Given the description of an element on the screen output the (x, y) to click on. 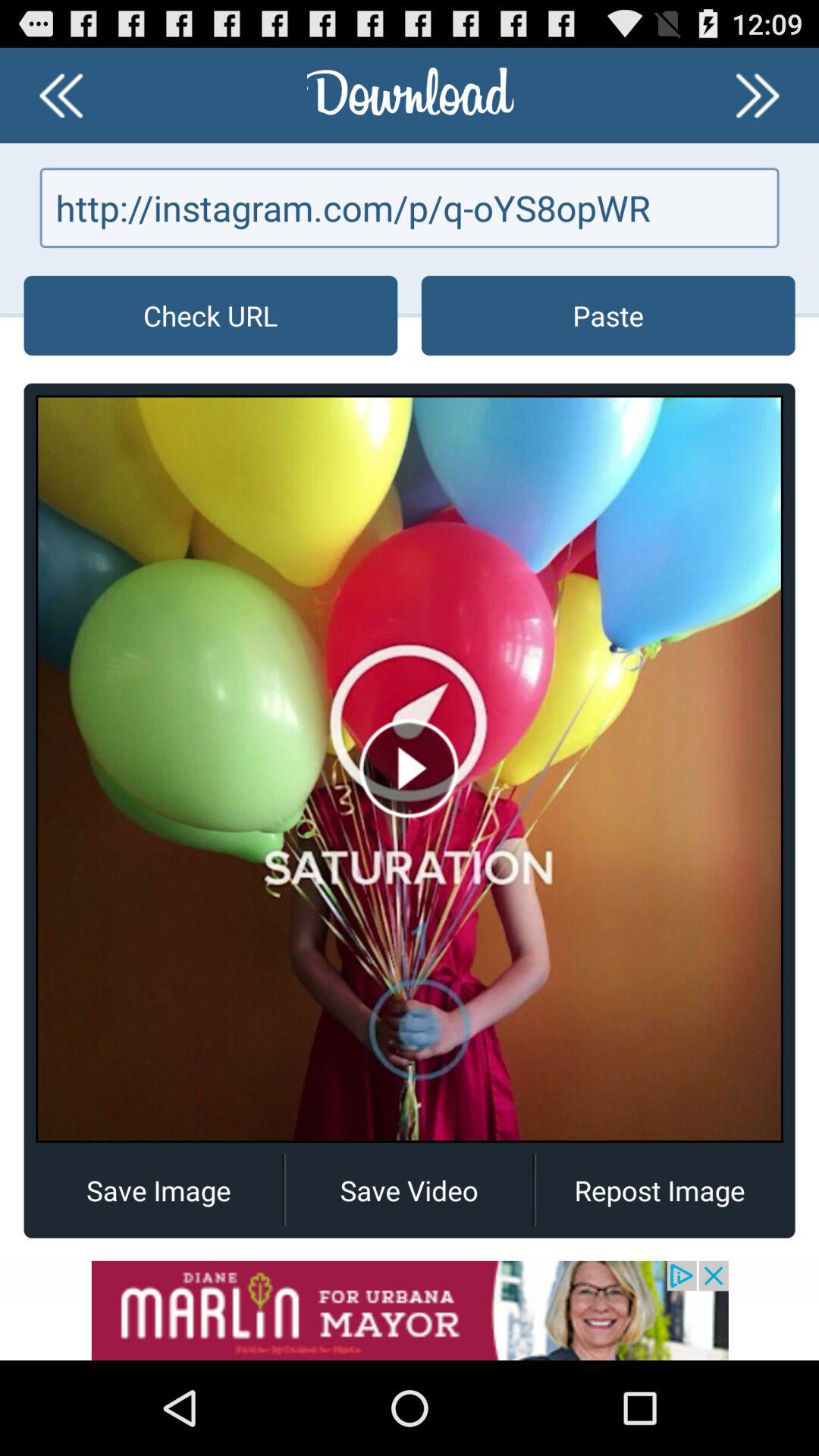
go back (61, 95)
